Given the description of an element on the screen output the (x, y) to click on. 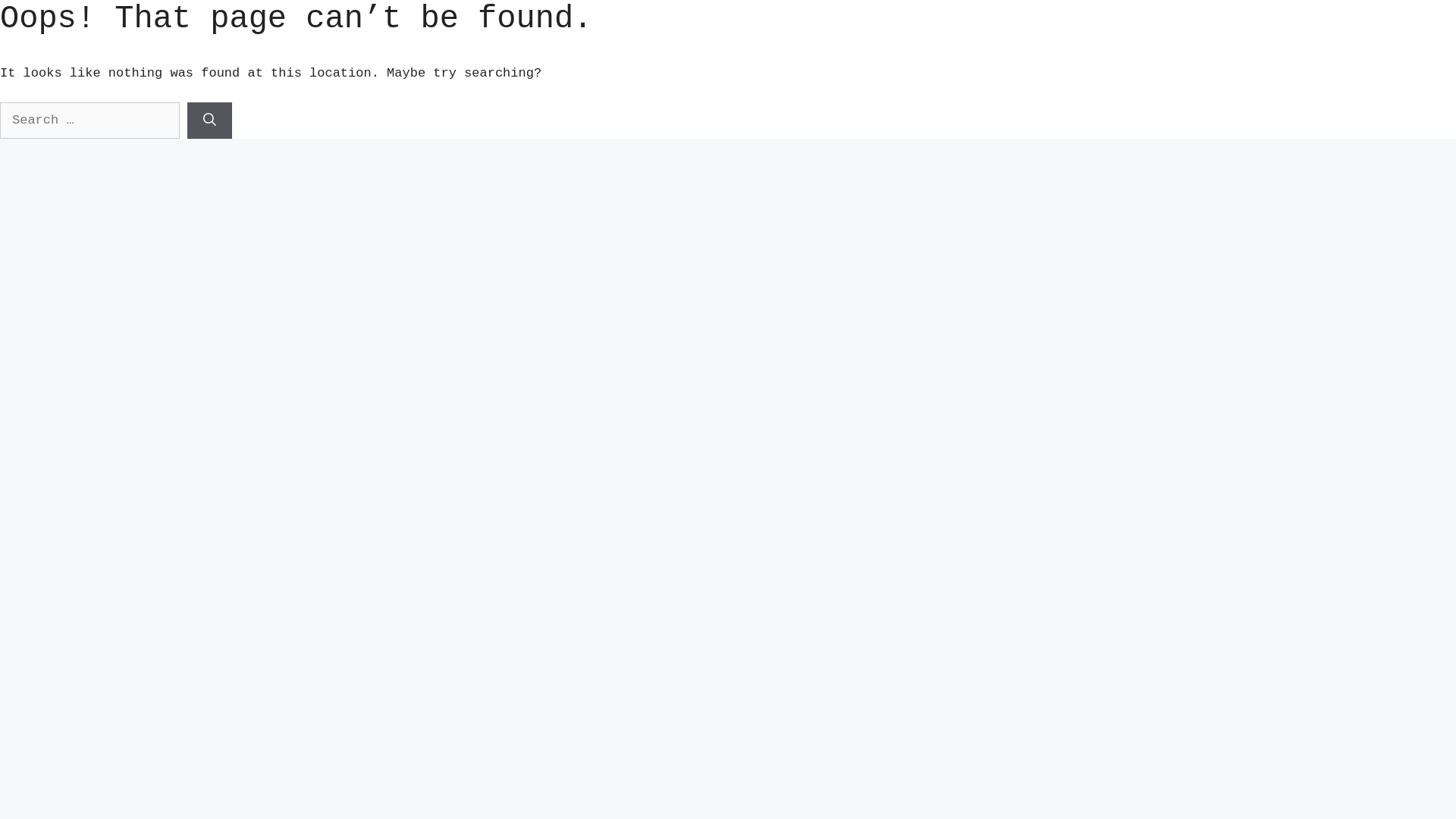
Search for: Element type: hover (89, 120)
